Given the description of an element on the screen output the (x, y) to click on. 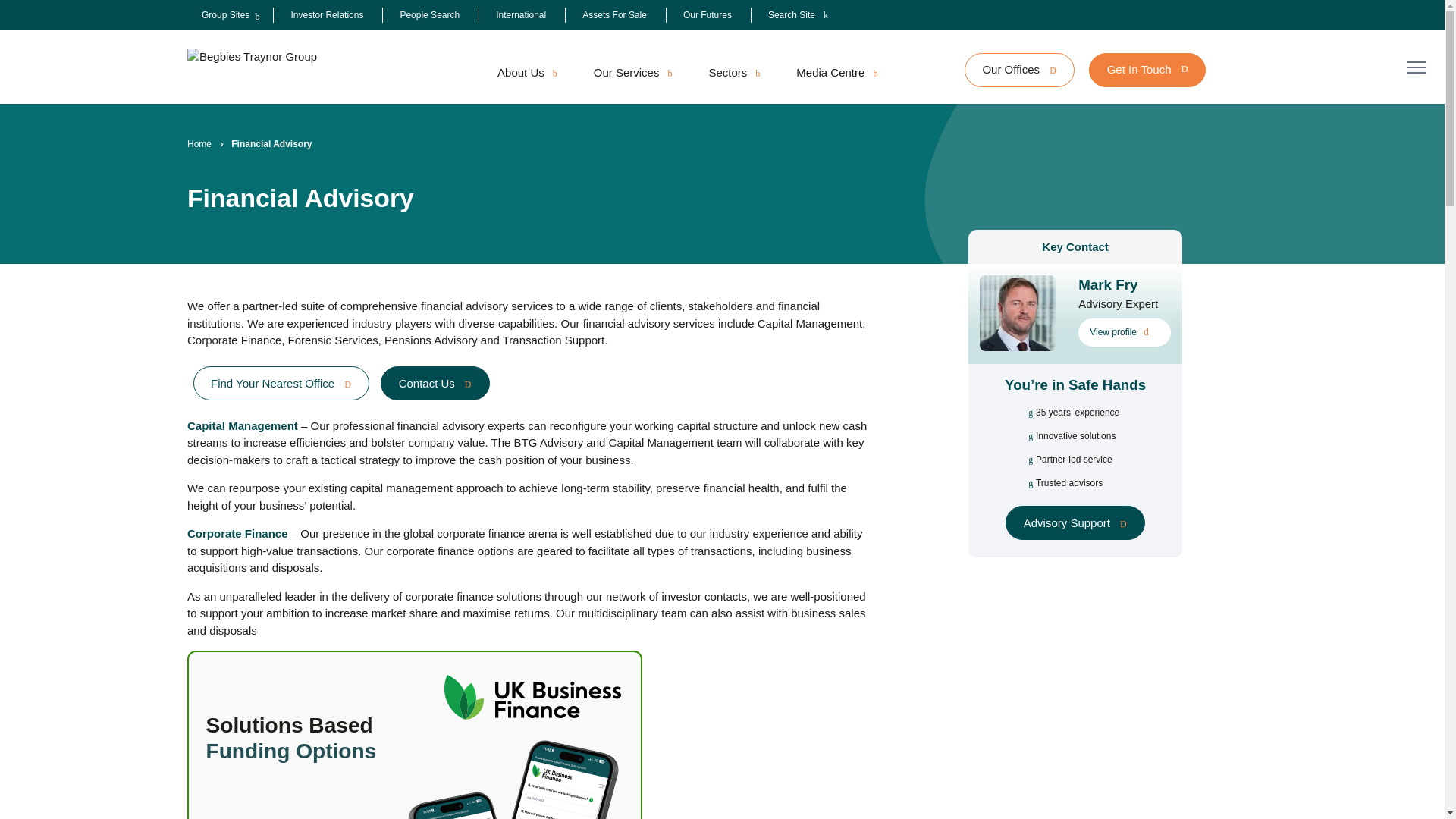
Investor Relations (325, 15)
International (521, 15)
Group Sites (225, 15)
About Us (527, 73)
Go to Home (199, 143)
Assets For Sale (614, 15)
Our Services (632, 73)
Search Site (798, 15)
People Search (429, 15)
Our Futures (707, 15)
